Given the description of an element on the screen output the (x, y) to click on. 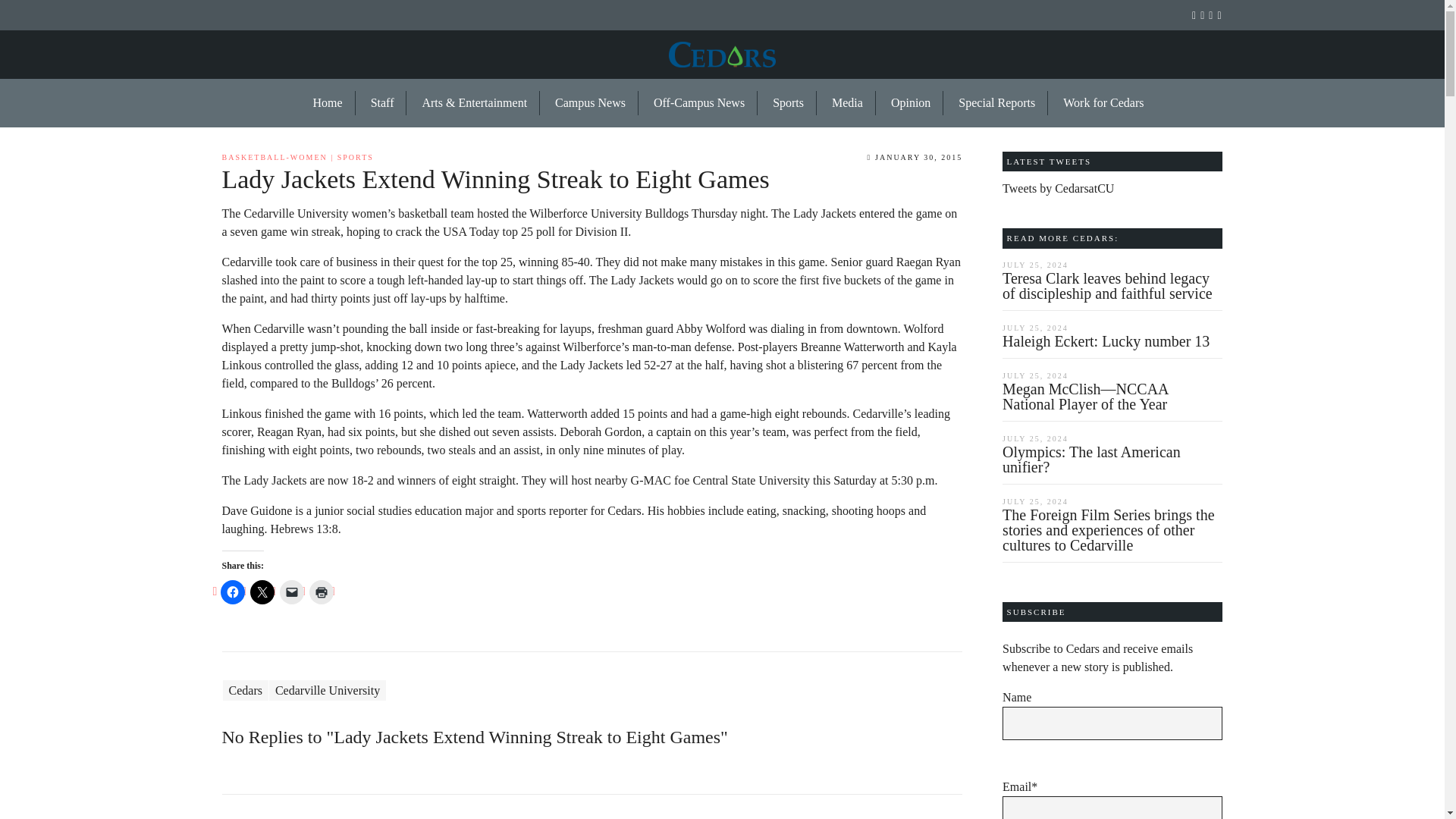
Click to print (320, 591)
JANUARY 30, 2015 (914, 157)
Special Reports (997, 102)
Campus News (591, 102)
Click to email a link to a friend (291, 591)
Click to share on X (262, 591)
Staff (382, 102)
Media (847, 102)
Sports (788, 102)
Click to share on Facebook (232, 591)
Off-Campus News (699, 102)
Opinion (911, 102)
Home (328, 102)
Work for Cedars (1096, 102)
